Given the description of an element on the screen output the (x, y) to click on. 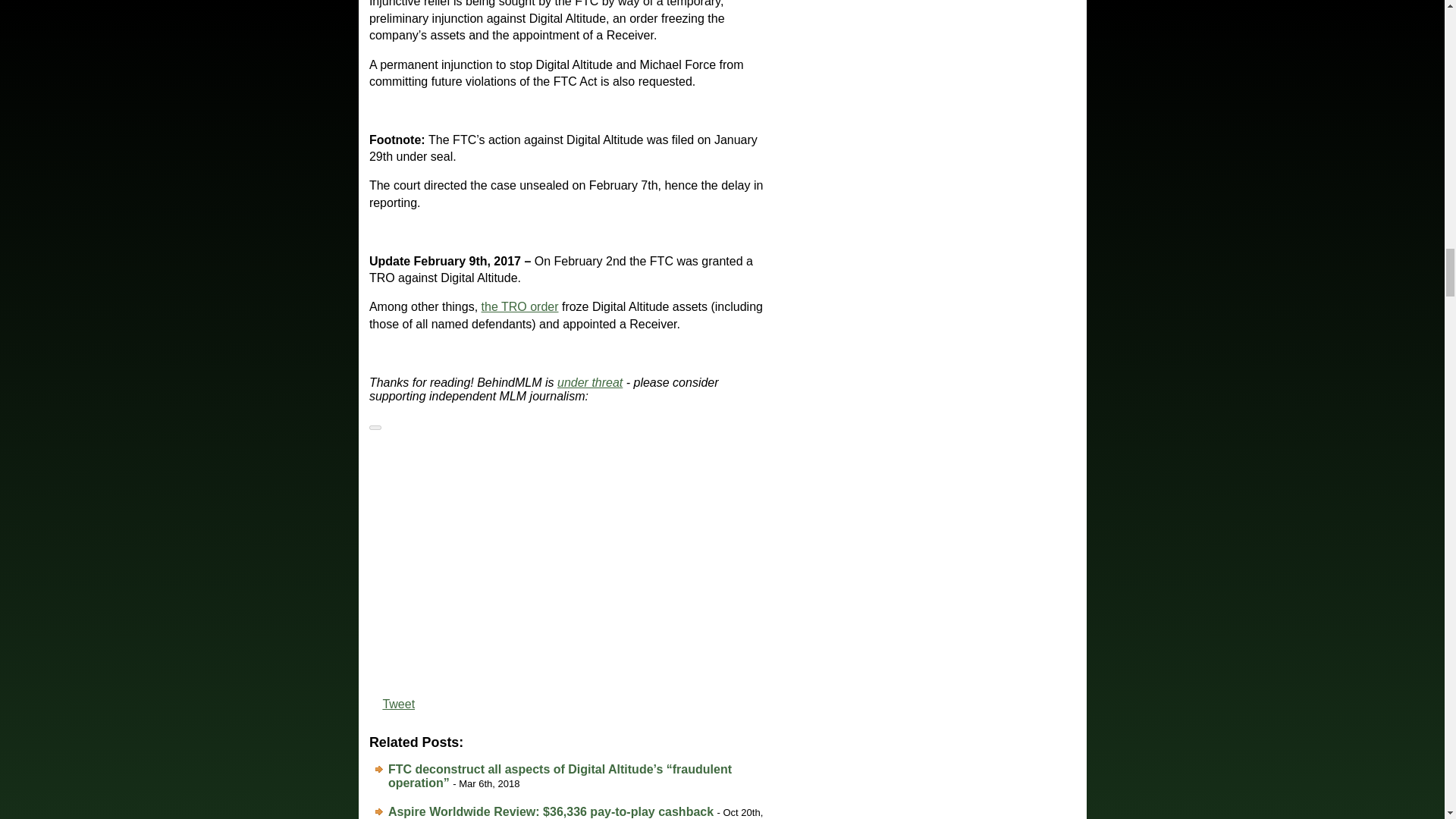
under threat (590, 382)
the TRO order (520, 306)
Tweet (397, 703)
